Given the description of an element on the screen output the (x, y) to click on. 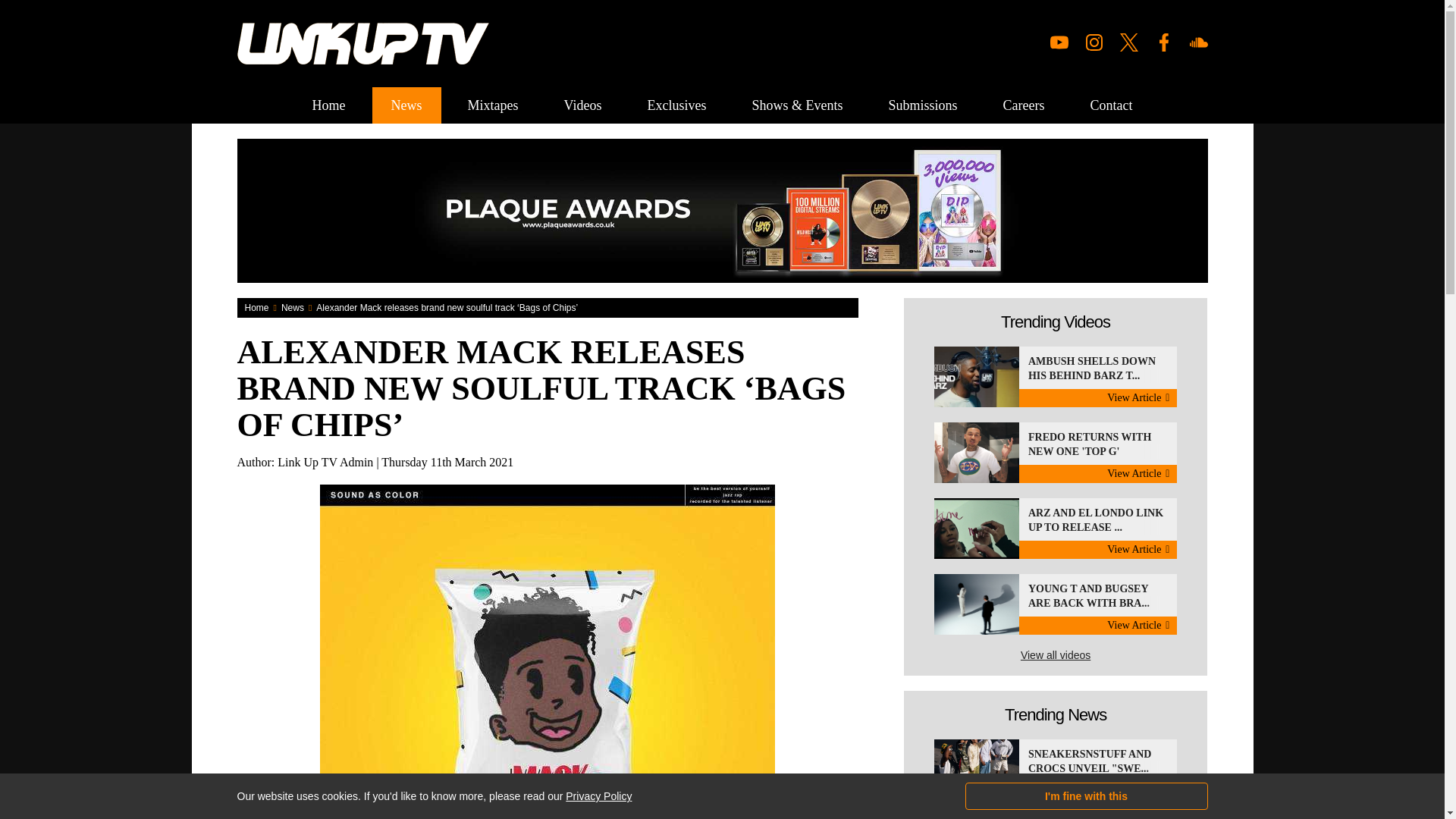
Careers (1024, 104)
Sneakersnstuff And Crocs Unveil  (1055, 769)
View all videos (1055, 655)
Submissions (1055, 527)
News (922, 104)
Videos (1055, 452)
Home (406, 104)
Exclusives (582, 104)
Ambush Shells Down His Behind Barz Take 2 (329, 104)
Contact (676, 104)
